Given the description of an element on the screen output the (x, y) to click on. 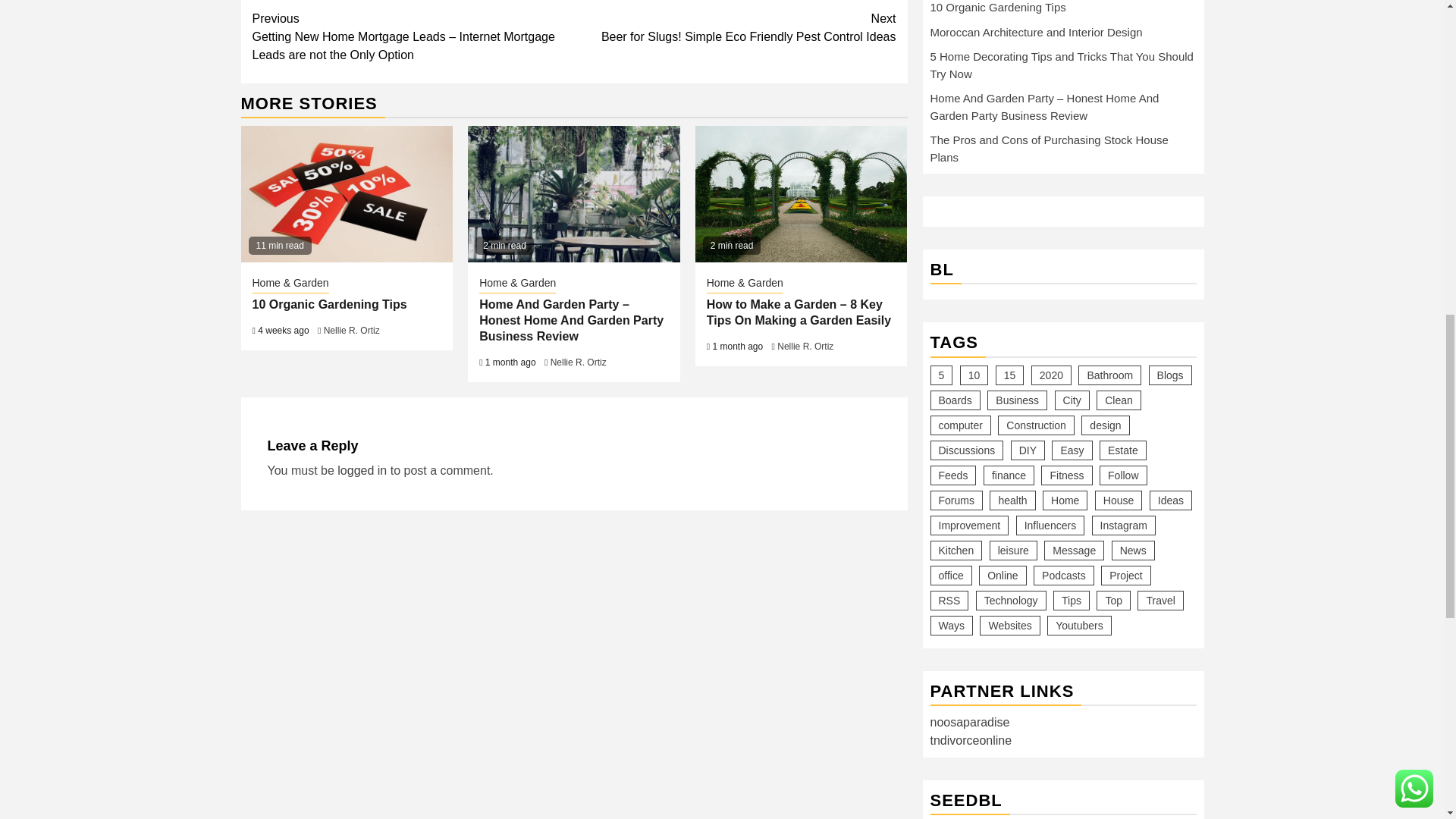
Nellie R. Ortiz (734, 27)
10 Organic Gardening Tips (351, 330)
10 Organic Gardening Tips (328, 304)
logged in (346, 194)
Nellie R. Ortiz (362, 470)
Nellie R. Ortiz (578, 362)
